Given the description of an element on the screen output the (x, y) to click on. 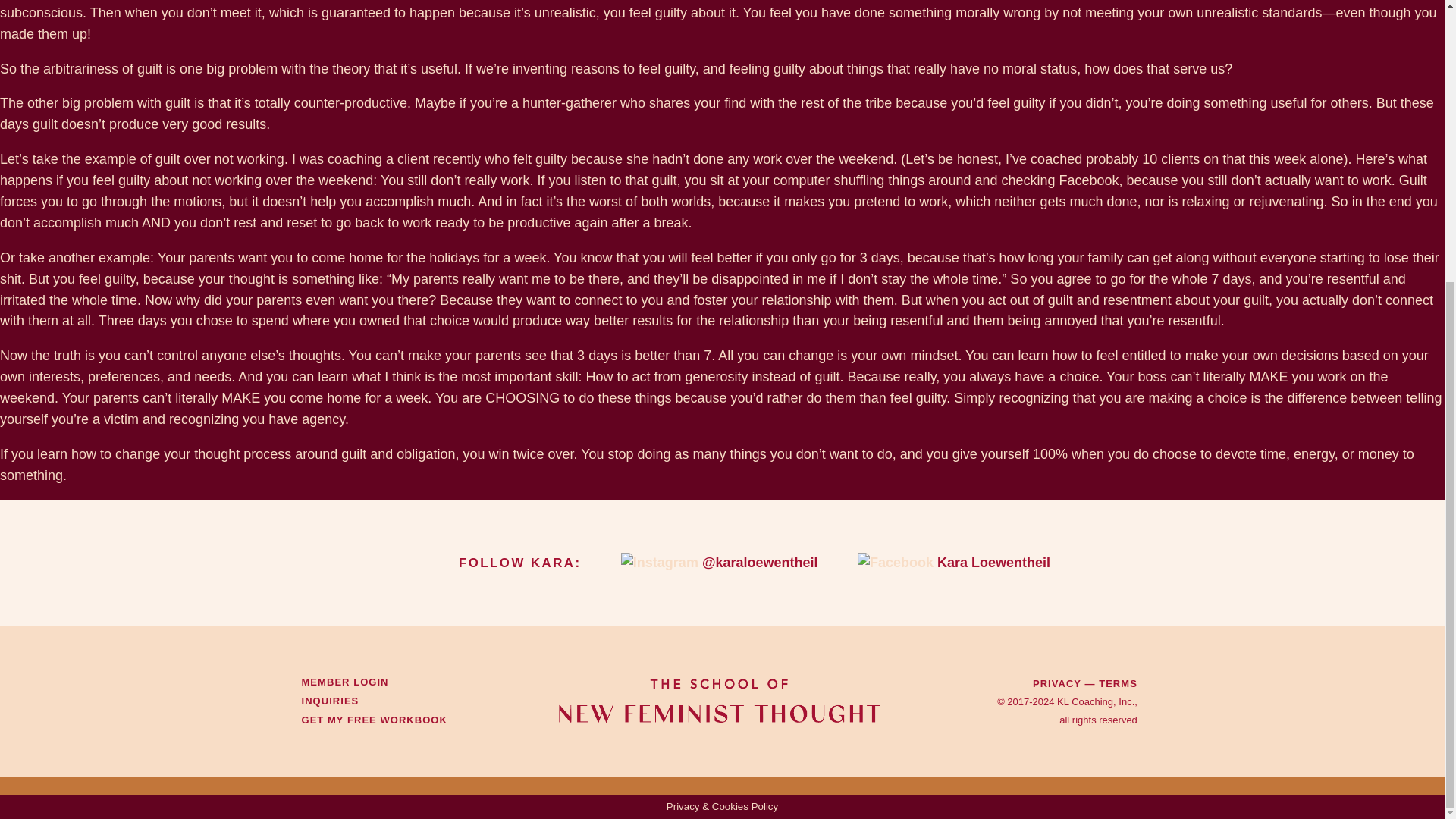
MEMBER LOGIN (344, 681)
Kara Loewentheil (993, 562)
INQUIRIES (330, 700)
GET MY FREE WORKBOOK (373, 719)
TERMS (1118, 682)
